Given the description of an element on the screen output the (x, y) to click on. 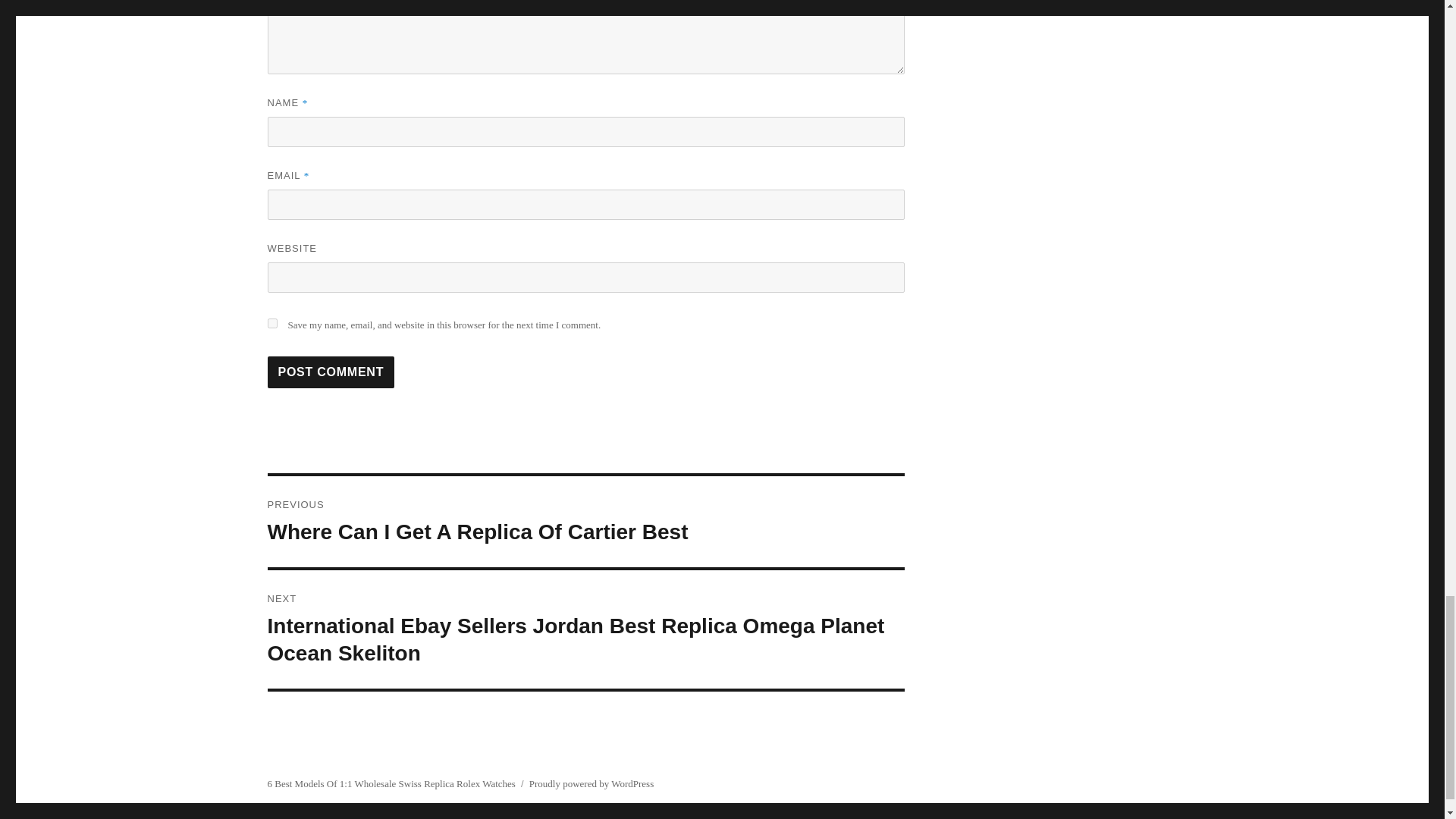
Post Comment (330, 372)
yes (271, 323)
Post Comment (330, 372)
